Given the description of an element on the screen output the (x, y) to click on. 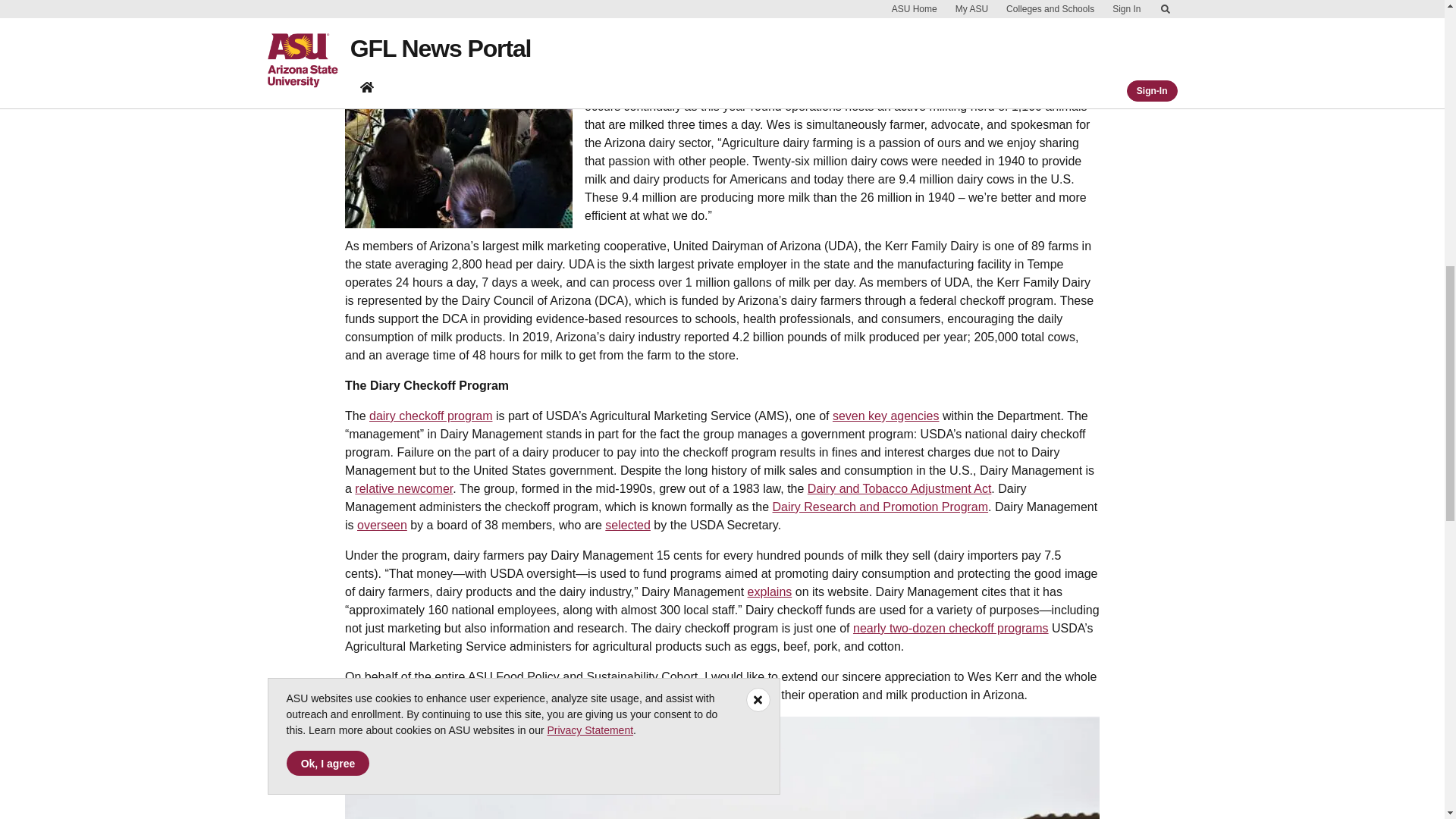
selected (627, 524)
seven key agencies (885, 415)
explains (770, 591)
overseen (381, 524)
Dairy and Tobacco Adjustment Act (899, 488)
relative newcomer (403, 488)
nearly two-dozen checkoff programs (950, 627)
dairy checkoff program (430, 415)
Dairy Research and Promotion Program (880, 506)
